Given the description of an element on the screen output the (x, y) to click on. 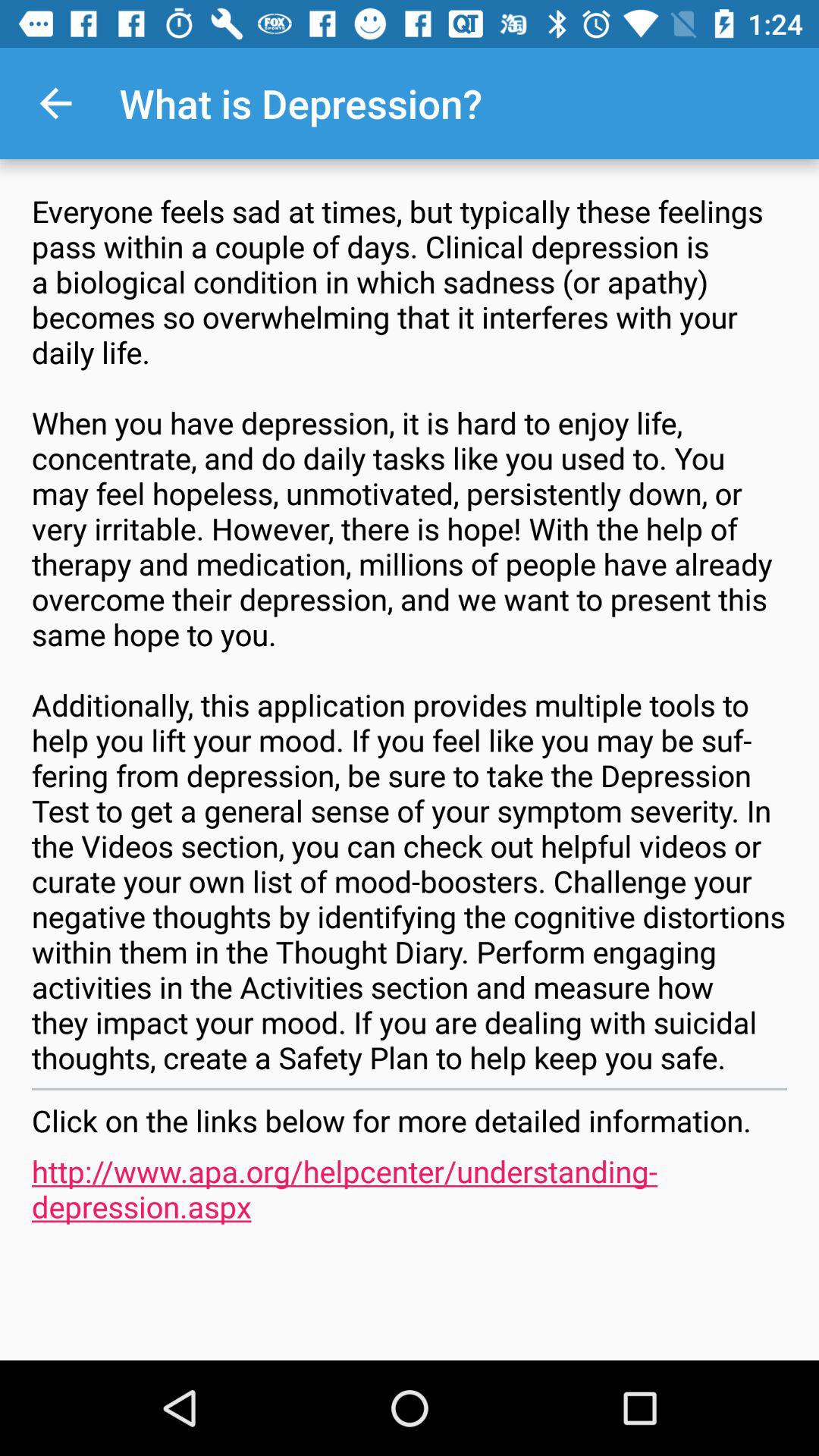
launch http www apa (409, 1188)
